Given the description of an element on the screen output the (x, y) to click on. 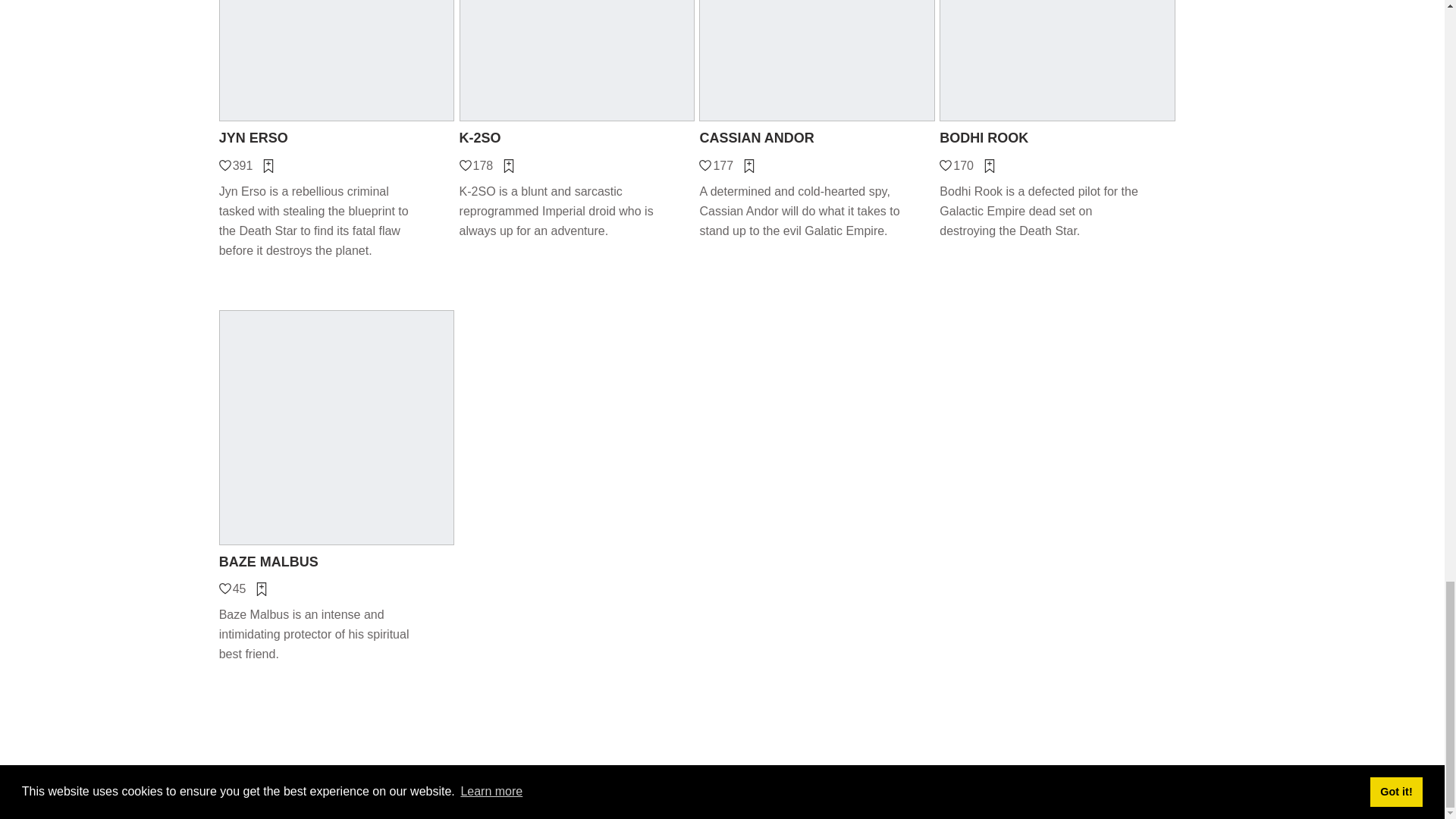
BAZE MALBUS (336, 561)
K-2SO (577, 138)
Contact (596, 796)
Home (517, 796)
JYN ERSO (336, 138)
BODHI ROOK (1056, 138)
About (555, 796)
Privacy Policy (658, 796)
CASSIAN ANDOR (816, 138)
